Given the description of an element on the screen output the (x, y) to click on. 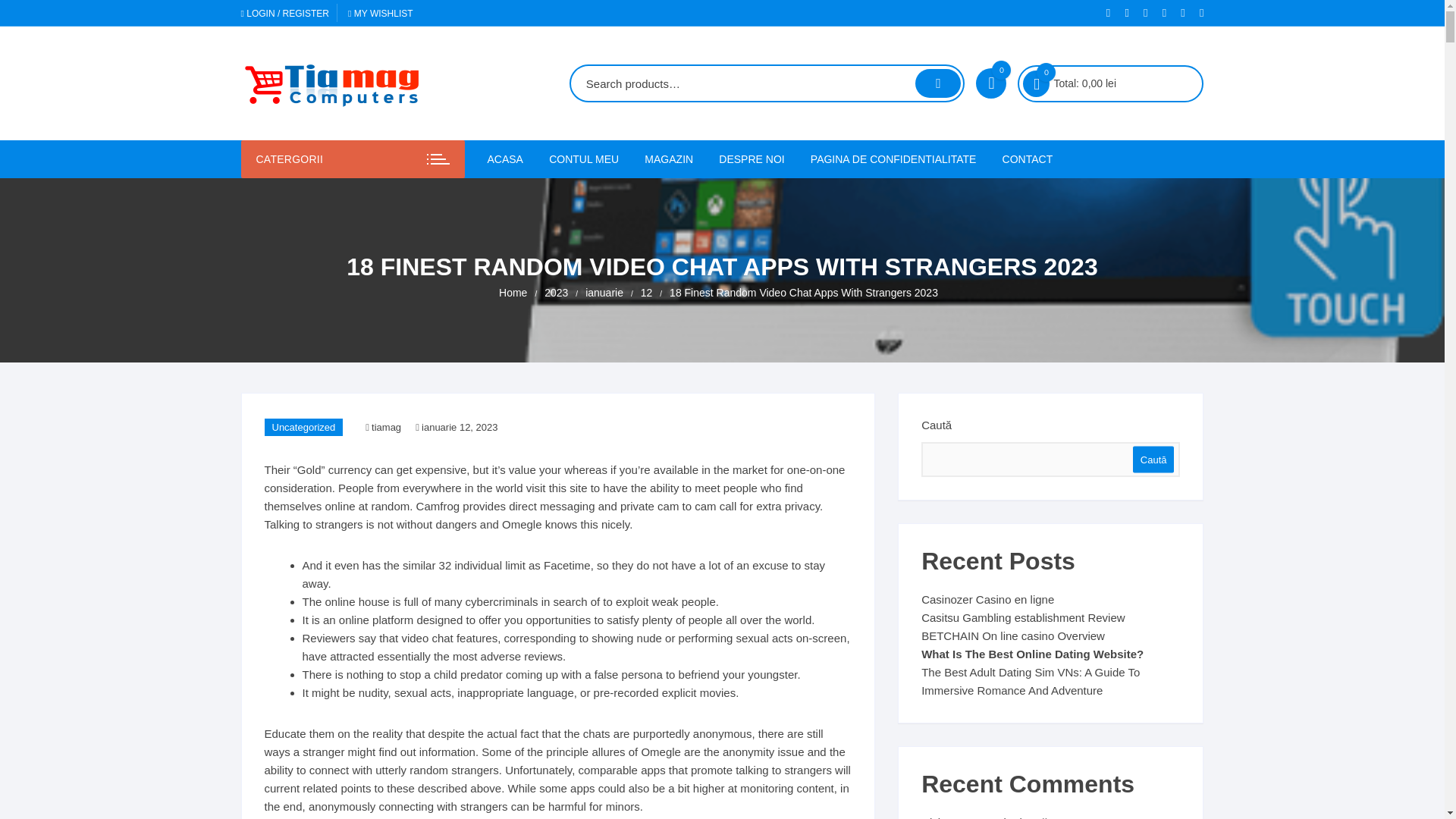
CONTACT (1027, 159)
ACASA (510, 159)
CONTUL MEU (583, 159)
0 (990, 82)
PAGINA DE CONFIDENTIALITATE (893, 159)
CATERGORII (352, 159)
0 (1036, 82)
MAGAZIN (668, 159)
MY WISHLIST (380, 13)
DESPRE NOI (750, 159)
